Given the description of an element on the screen output the (x, y) to click on. 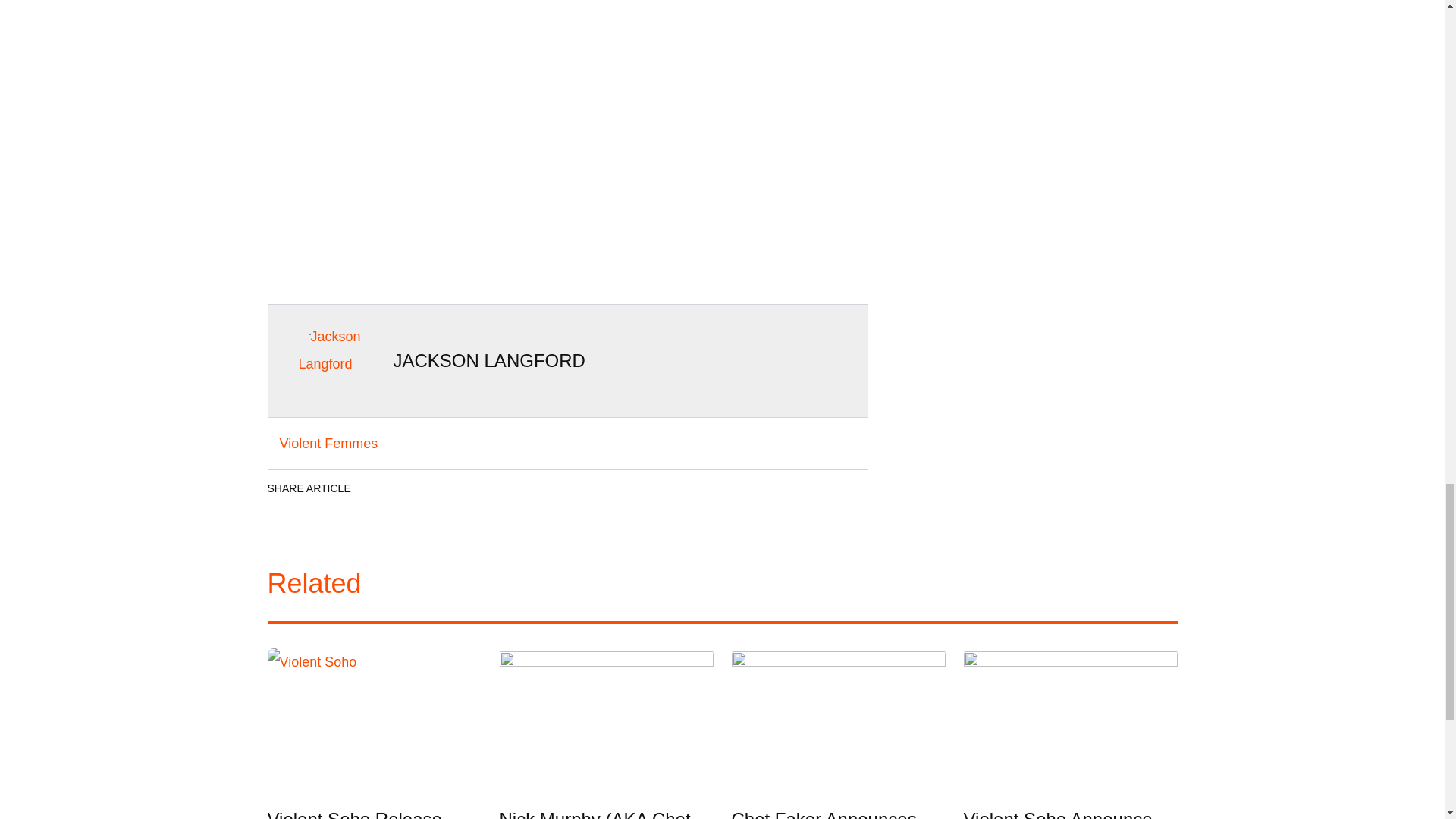
Violent Femmes (328, 443)
Pinterest (505, 487)
LinkedIn (420, 487)
Facebook (377, 487)
JACKSON LANGFORD (489, 360)
Twitter (463, 487)
